Given the description of an element on the screen output the (x, y) to click on. 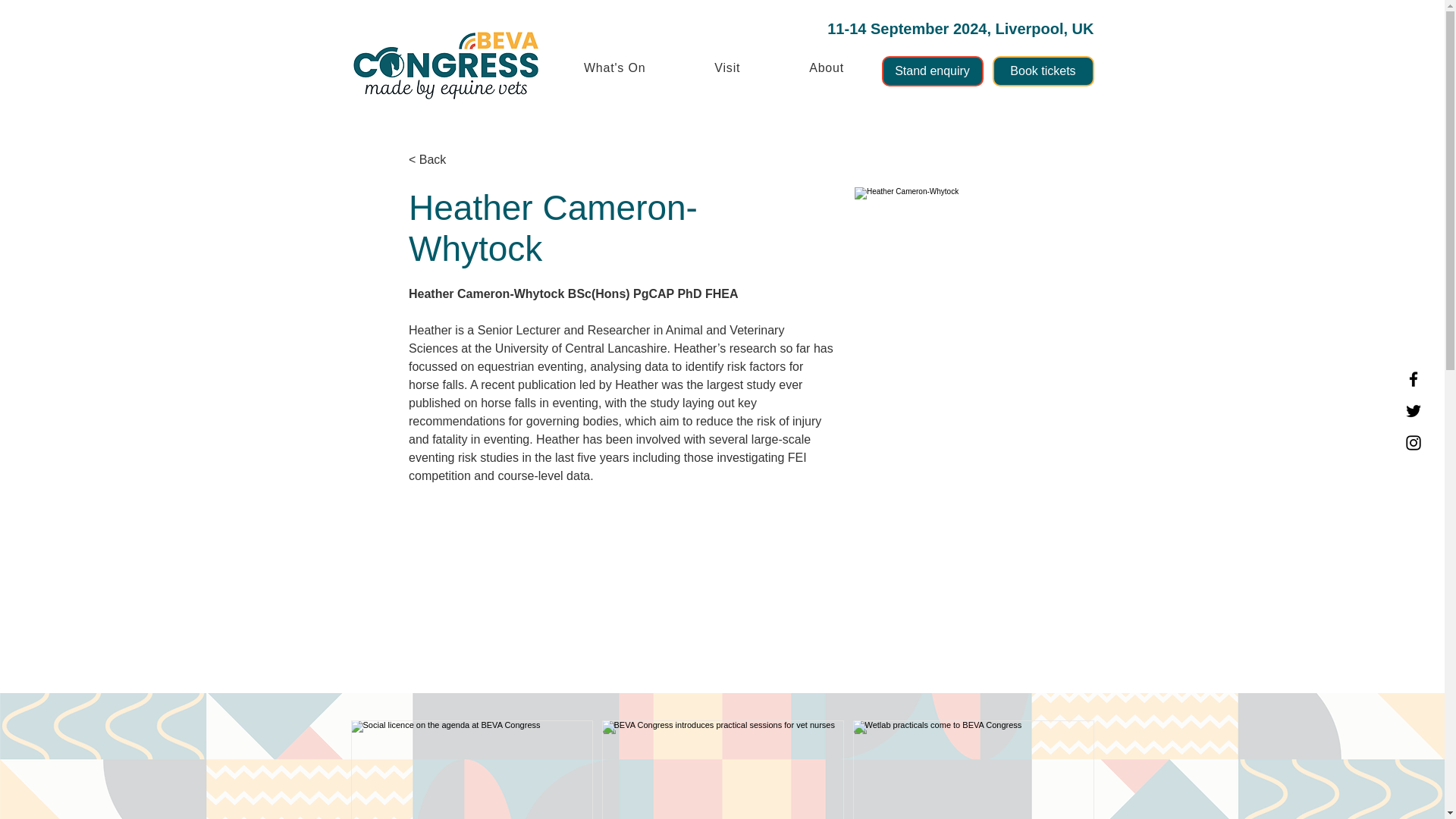
Stand enquiry (931, 71)
What's On (614, 68)
Logo - made by equine vets strapline-01.png (445, 65)
Visit (726, 68)
About (826, 68)
Book tickets (1042, 71)
